Given the description of an element on the screen output the (x, y) to click on. 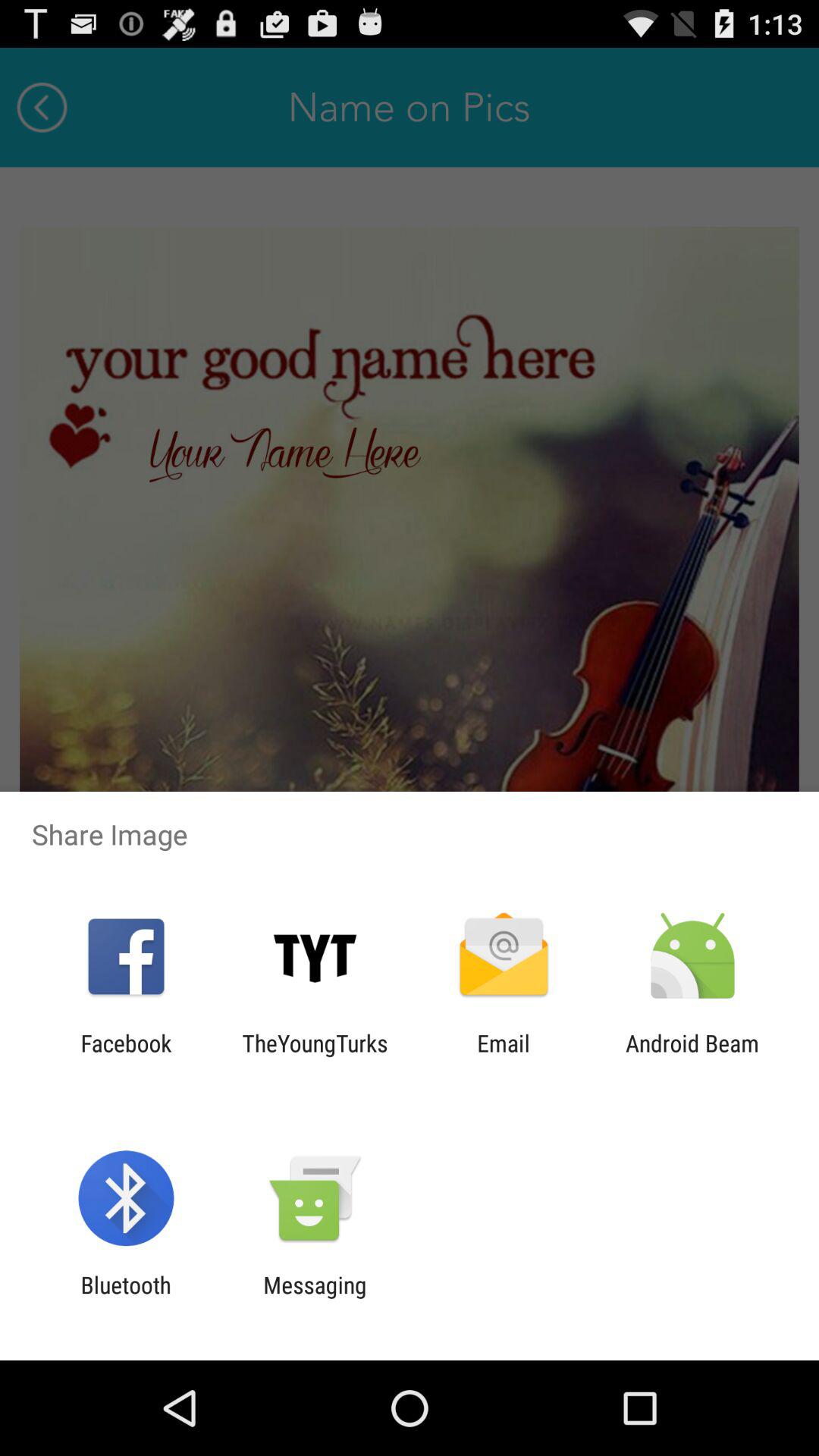
tap app to the right of the facebook icon (314, 1056)
